Given the description of an element on the screen output the (x, y) to click on. 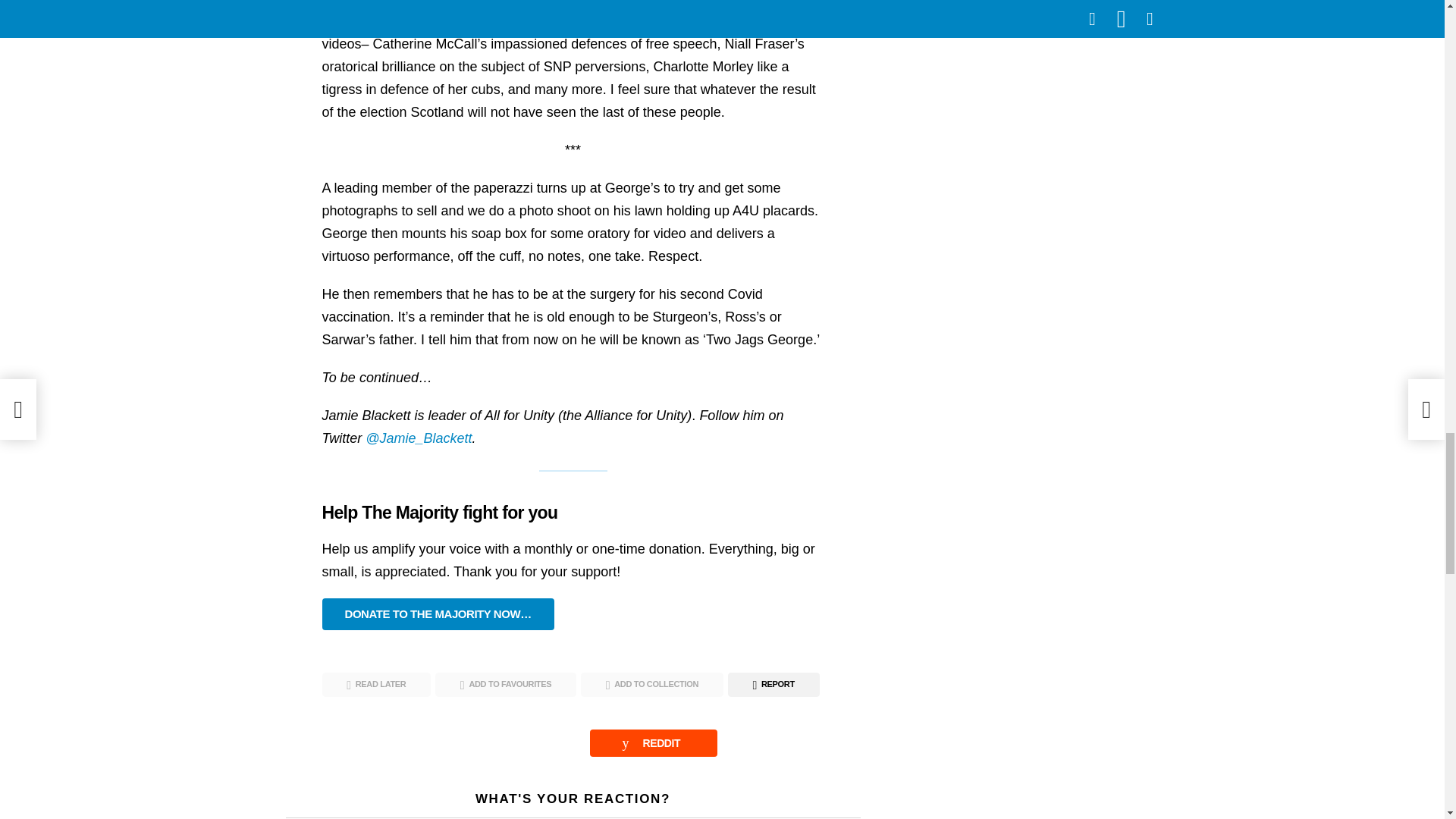
FACEBOOK (358, 742)
TWITTER (511, 742)
EMAIL (788, 742)
Share on Facebook (358, 742)
ADD TO FAVOURITES (505, 684)
Share on Reddit (653, 742)
Share on Email (788, 742)
Share on Twitter (511, 742)
ADD TO COLLECTION (651, 684)
REDDIT (653, 742)
